Given the description of an element on the screen output the (x, y) to click on. 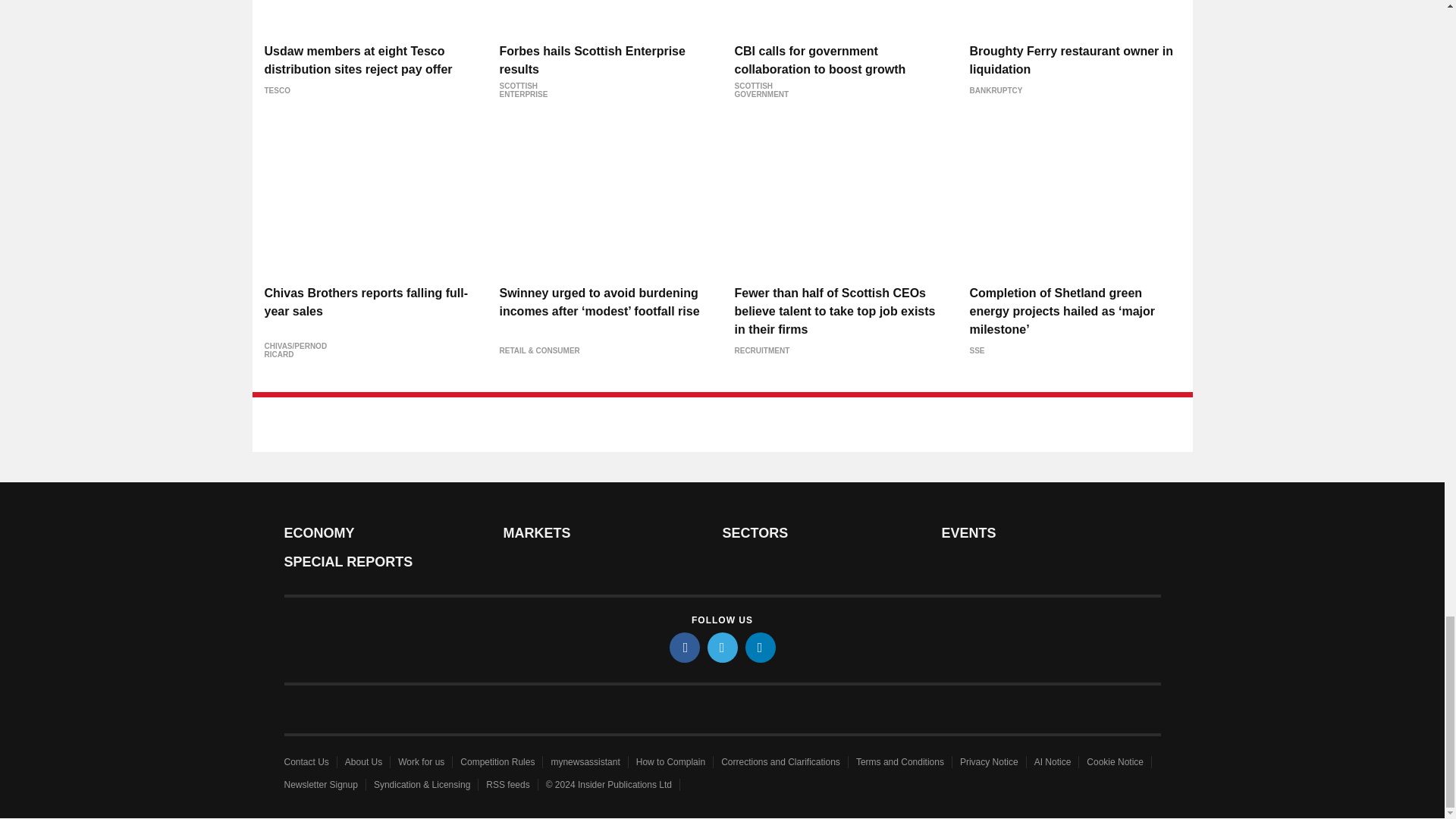
facebook (683, 647)
linkedin (759, 647)
twitter (721, 647)
